Given the description of an element on the screen output the (x, y) to click on. 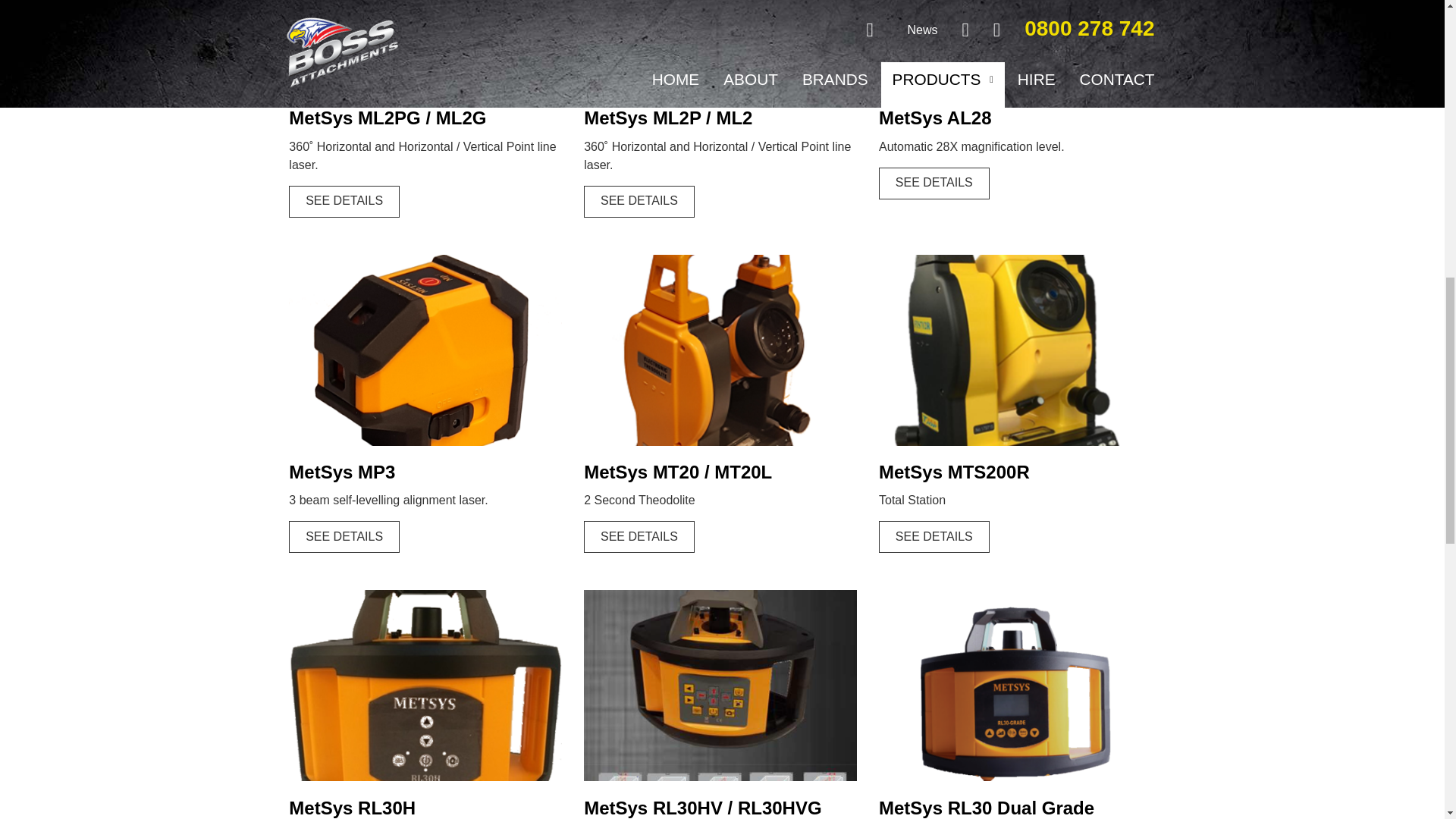
MetSys AL28 (934, 183)
MetSys MP3 (343, 536)
MetSys MTS200R (934, 536)
